Given the description of an element on the screen output the (x, y) to click on. 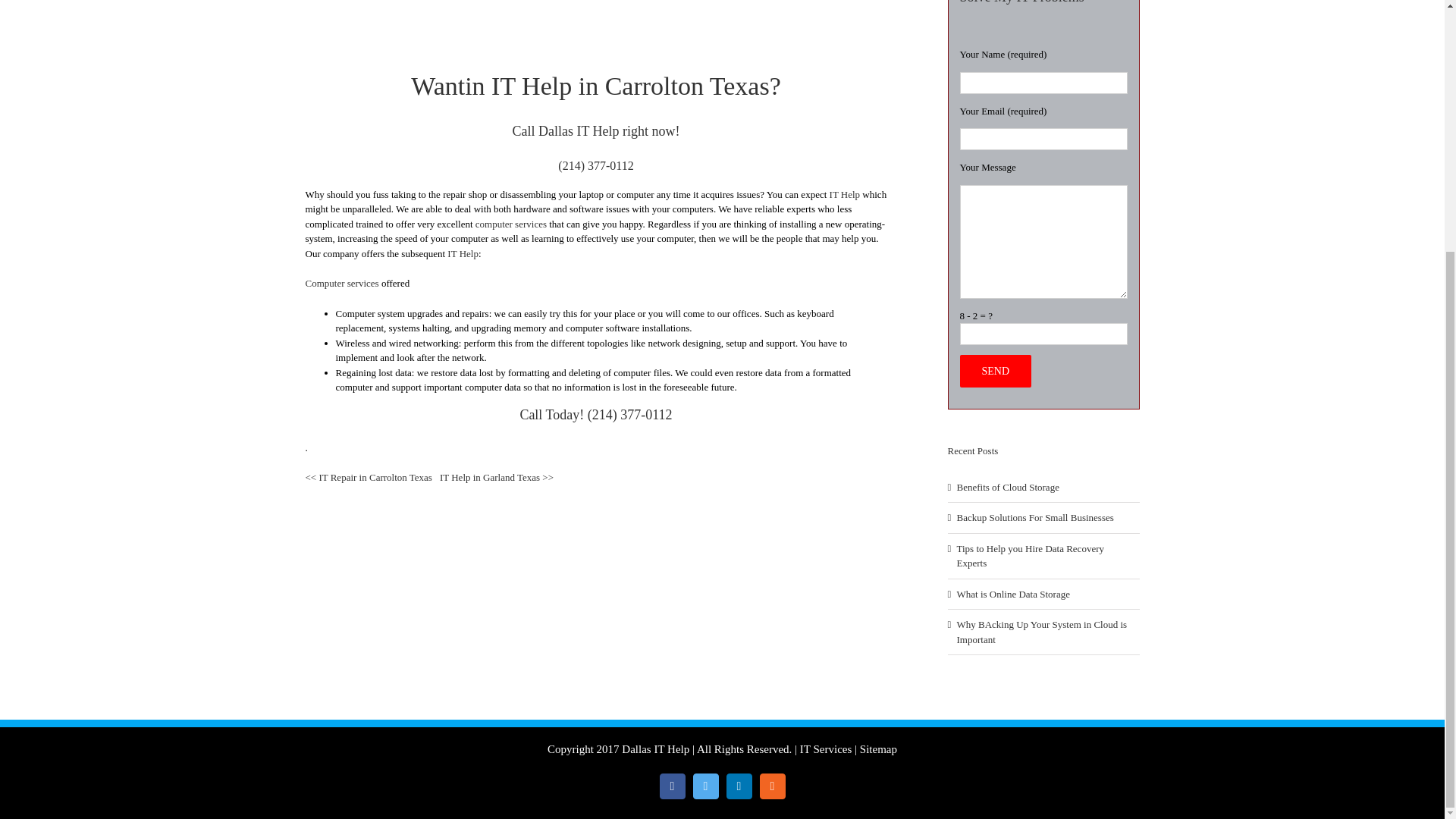
IT Help (462, 253)
Rss (773, 786)
What is Online Data Storage (1013, 593)
Send (995, 370)
Backup Solutions For Small Businesses (1034, 517)
Send (995, 370)
IT Help (844, 194)
Benefits of Cloud Storage (1007, 487)
Linkedin (739, 786)
Rss (773, 786)
